Given the description of an element on the screen output the (x, y) to click on. 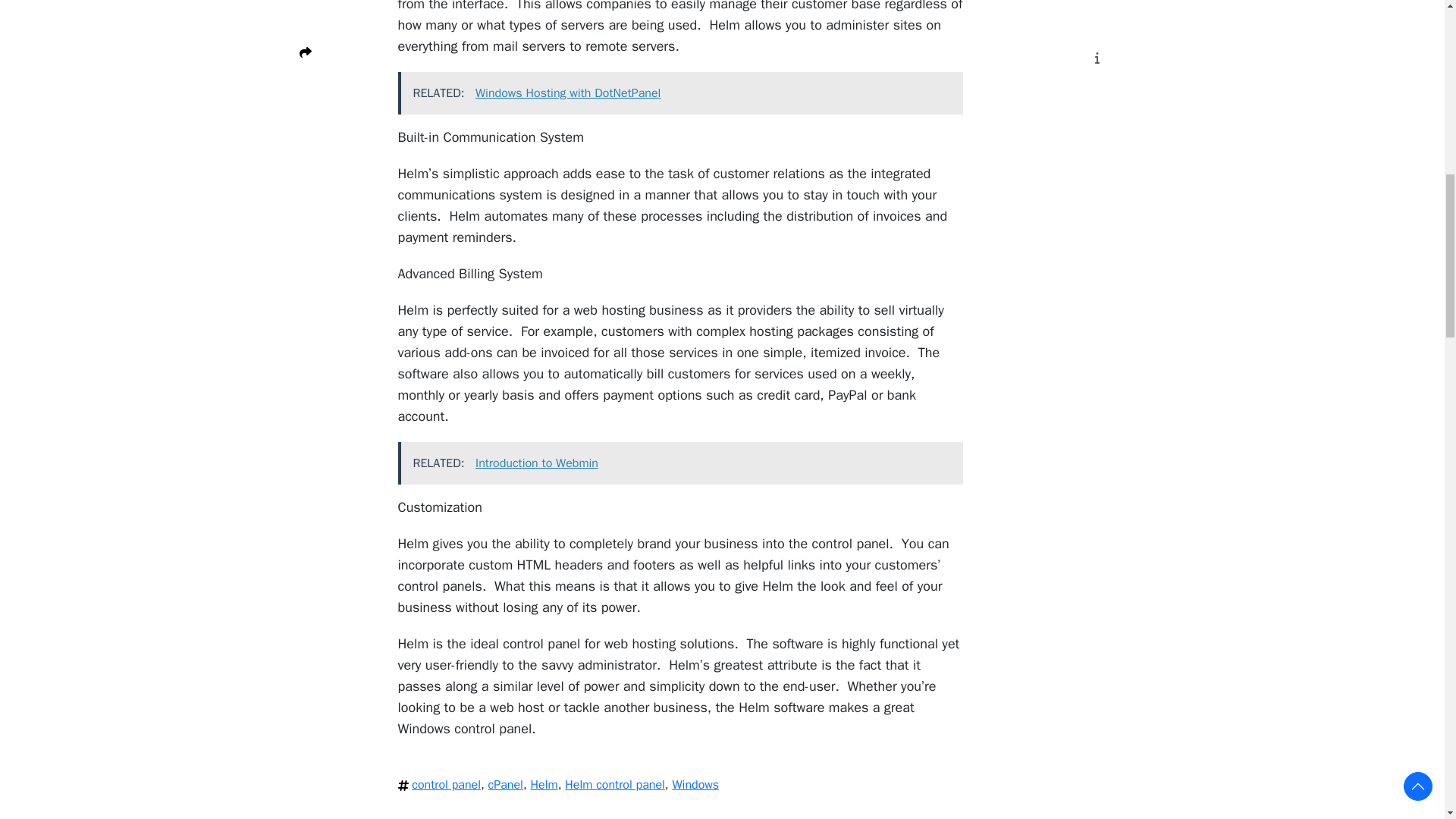
Helm (544, 784)
RELATED:   Windows Hosting with DotNetPanel (679, 93)
RELATED:   Introduction to Webmin (679, 463)
control panel (446, 784)
cPanel (504, 784)
Windows (695, 784)
Helm control panel (614, 784)
